Given the description of an element on the screen output the (x, y) to click on. 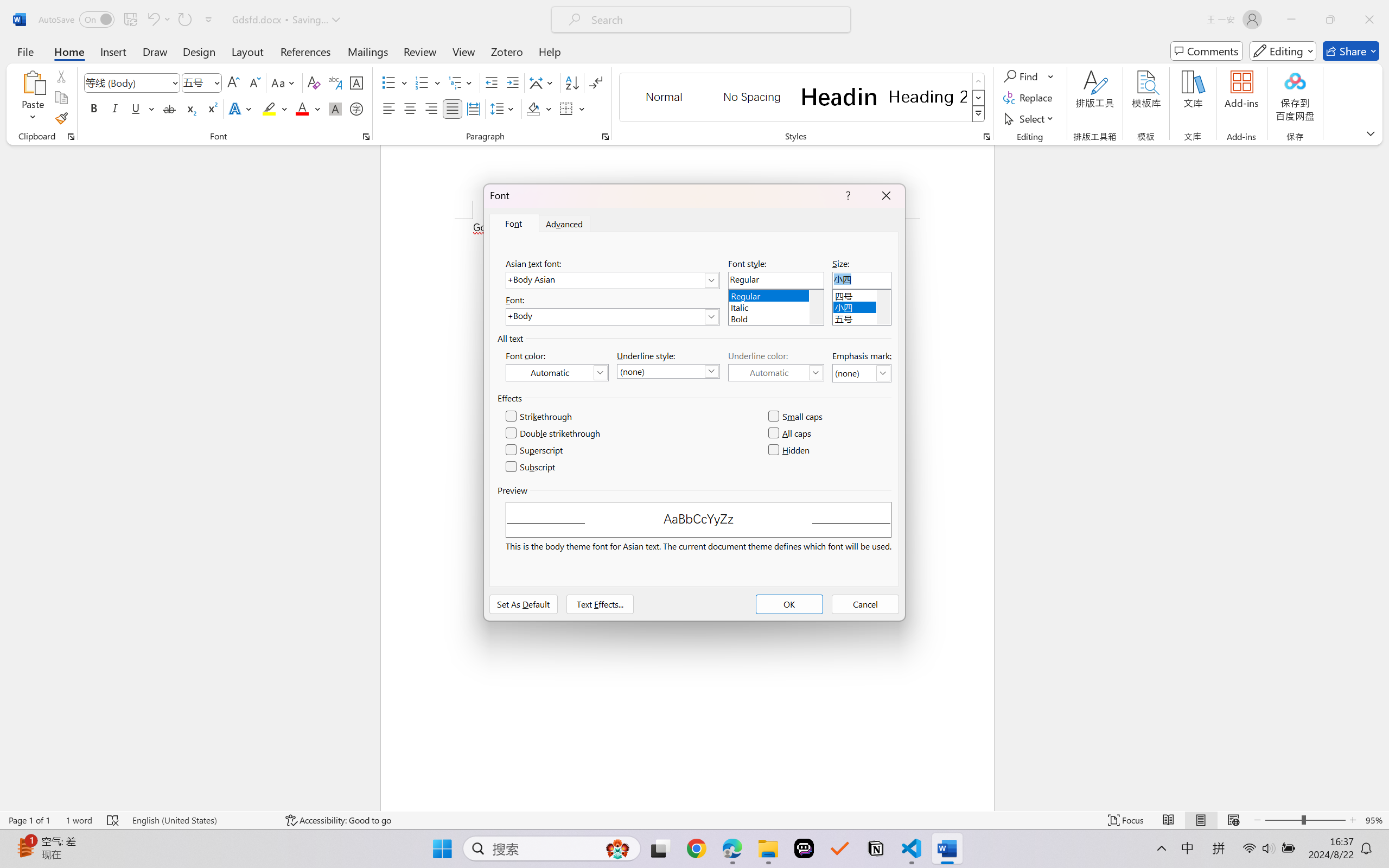
Copy (60, 97)
Row Down (978, 97)
Justify (452, 108)
Text Effects and Typography (241, 108)
